Given the description of an element on the screen output the (x, y) to click on. 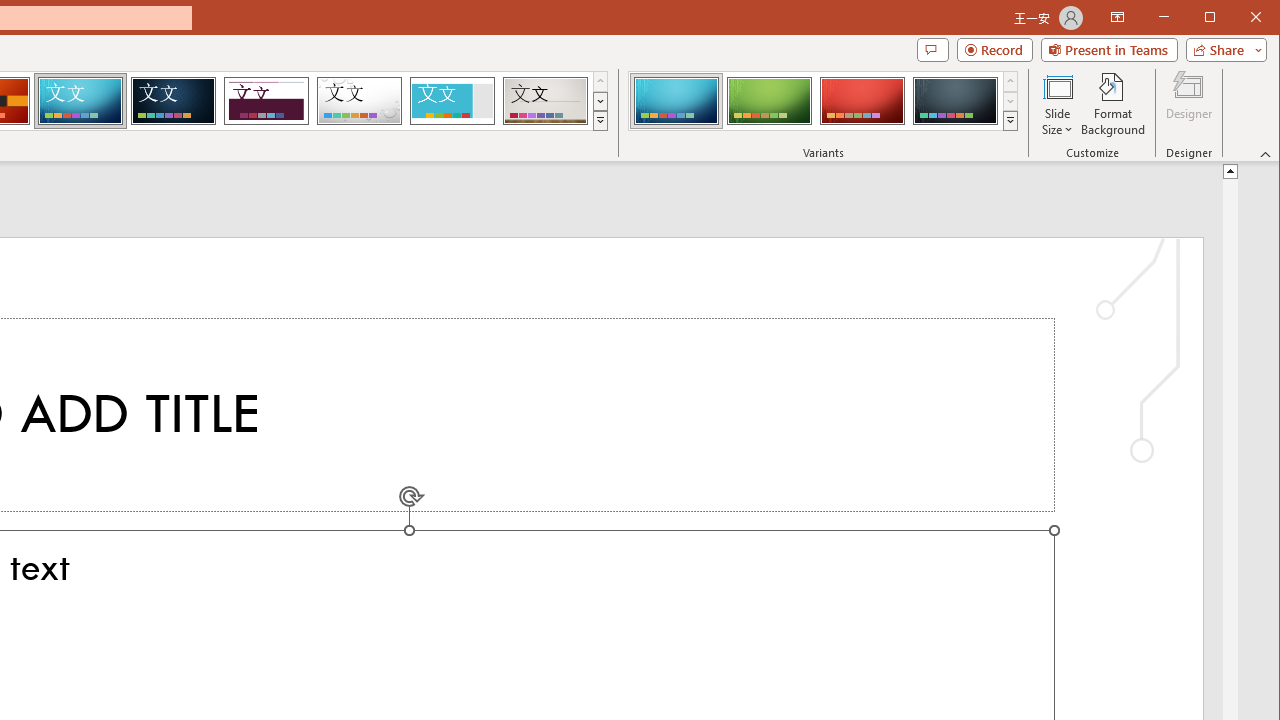
Circuit Variant 1 (676, 100)
Circuit Variant 4 (955, 100)
Slide Size (1057, 104)
Dividend (266, 100)
Circuit (80, 100)
Gallery (545, 100)
Circuit Variant 2 (769, 100)
Frame (452, 100)
